Given the description of an element on the screen output the (x, y) to click on. 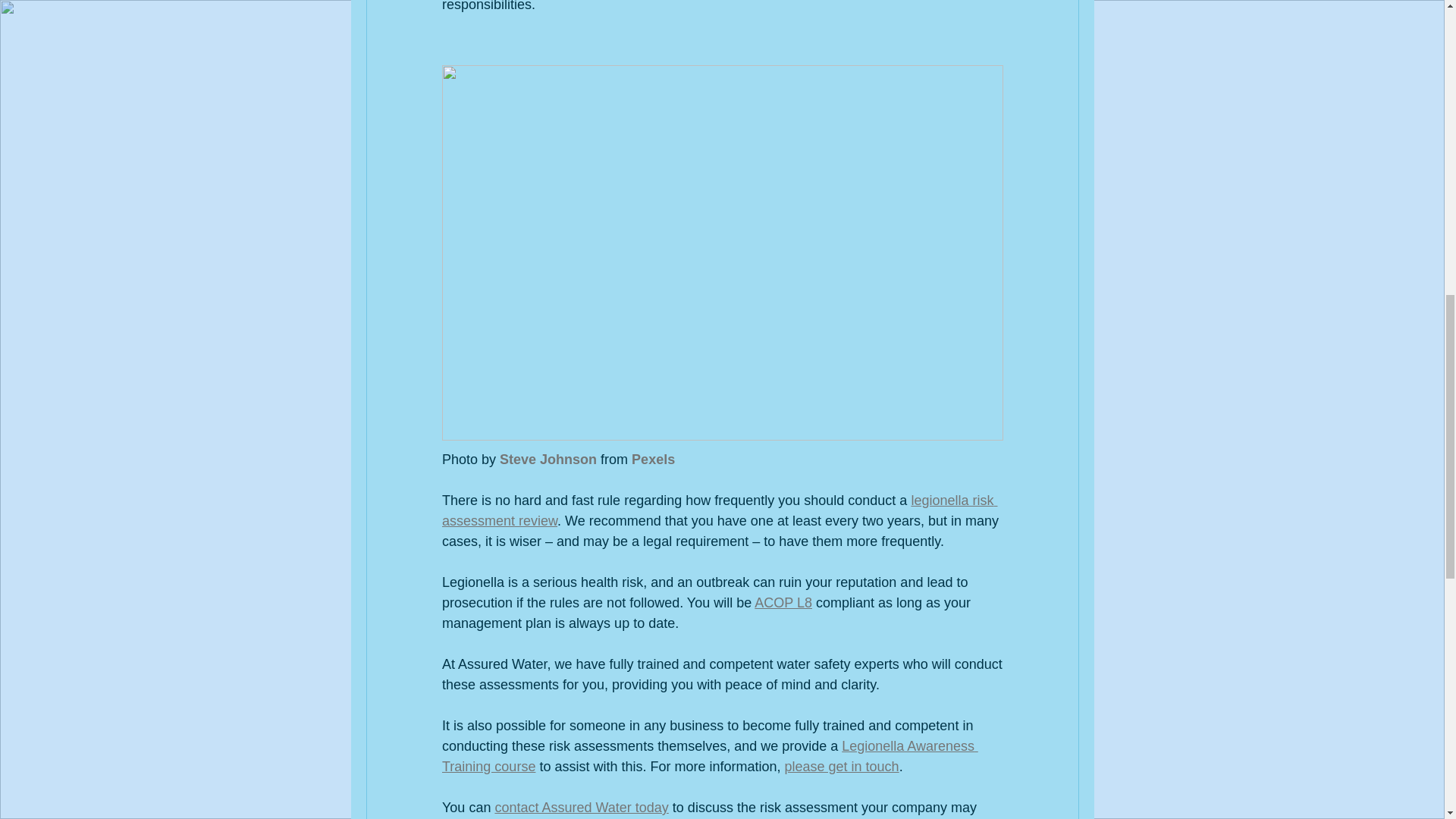
contact Assured Water today (581, 807)
Legionella Awareness Training course (708, 755)
ACOP L8 (783, 602)
Pexels (653, 459)
Steve Johnson (547, 459)
legionella risk assessment review (718, 510)
please get in touch (841, 766)
